Given the description of an element on the screen output the (x, y) to click on. 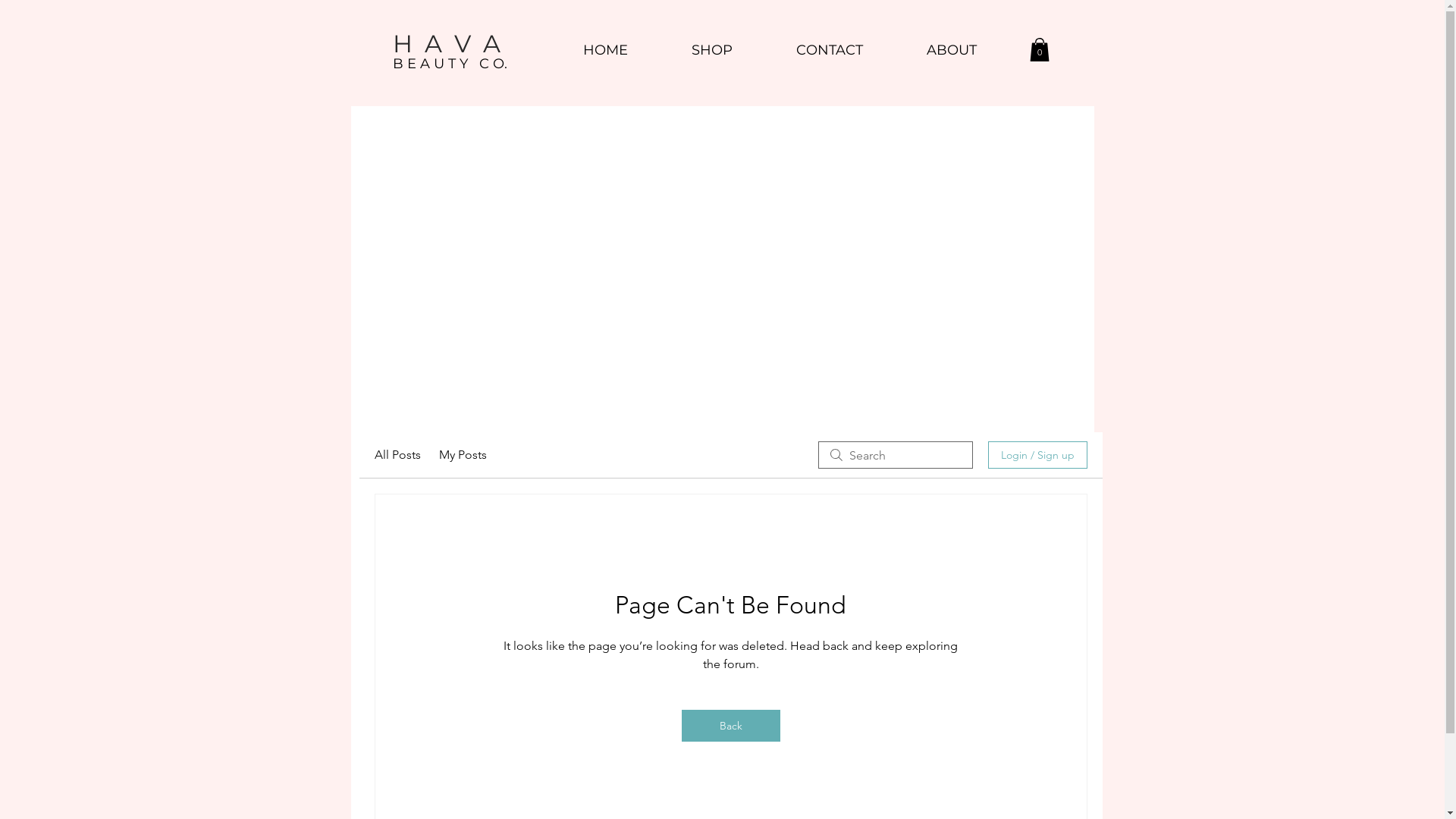
ABOUT Element type: text (951, 49)
HOME Element type: text (604, 49)
Login / Sign up Element type: text (1036, 454)
0 Element type: text (1039, 49)
All Posts Element type: text (397, 454)
CONTACT Element type: text (829, 49)
Back Element type: text (729, 725)
B E A U T Y   C O Element type: text (448, 63)
My Posts Element type: text (462, 454)
H  A  V  A Element type: text (446, 42)
